Given the description of an element on the screen output the (x, y) to click on. 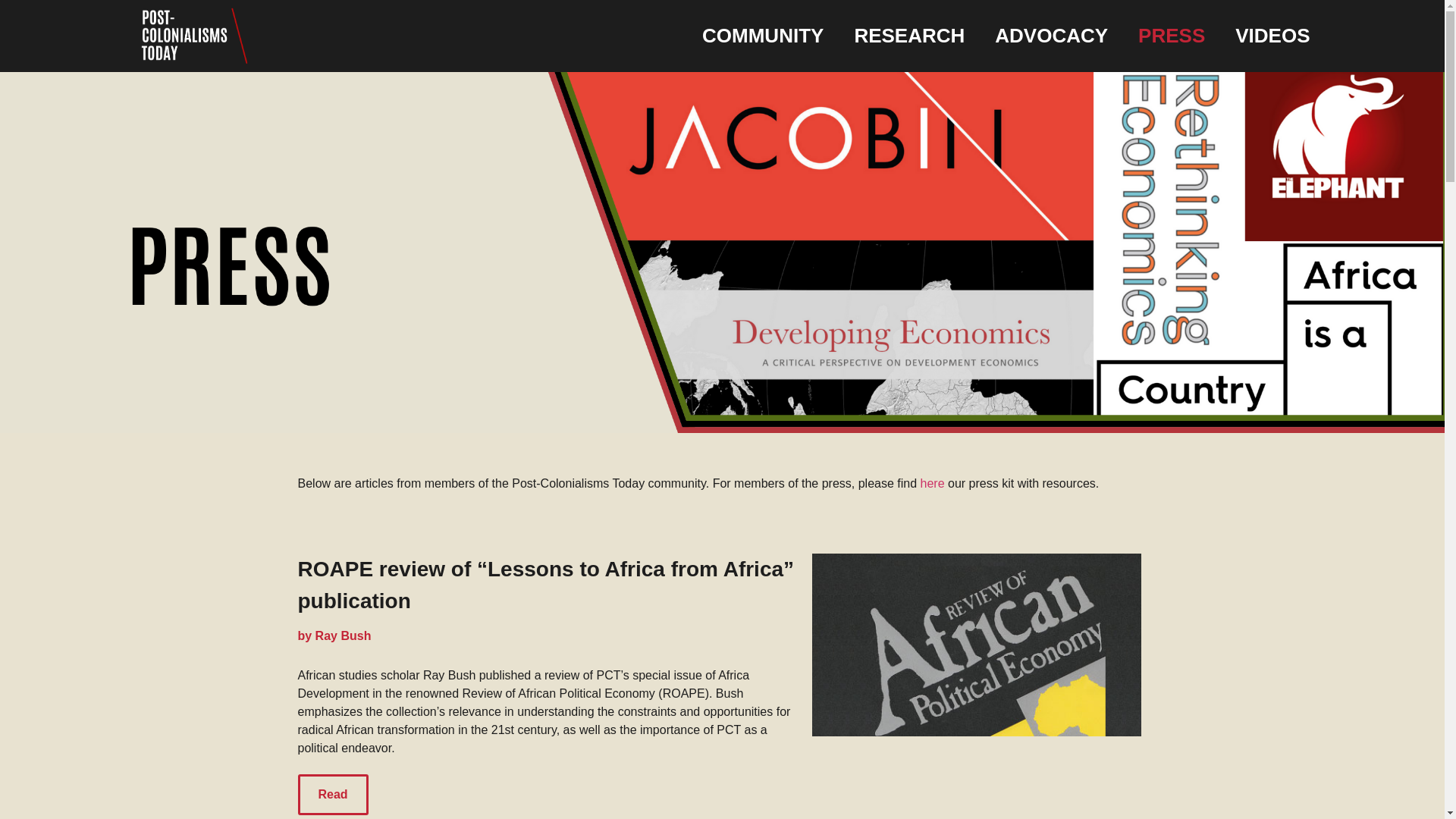
VIDEOS (1272, 35)
RESEARCH (909, 35)
ADVOCACY (1051, 35)
COMMUNITY (762, 35)
here (932, 482)
PRESS (1170, 35)
Read (332, 793)
